Given the description of an element on the screen output the (x, y) to click on. 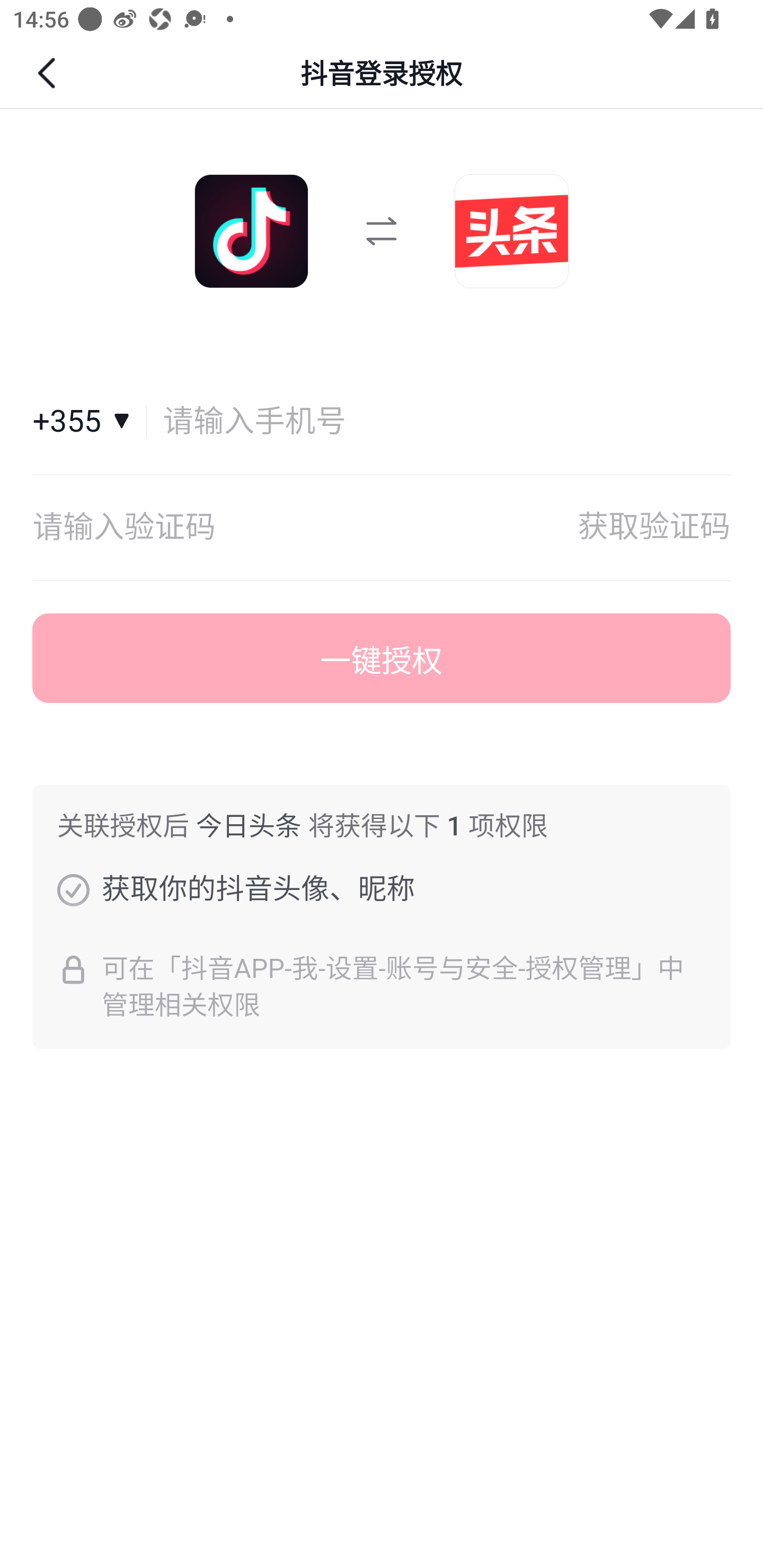
返回 (49, 72)
国家和地区+355 (90, 421)
获取验证码 (653, 527)
一键授权 (381, 658)
获取你的抖音头像、昵称 (72, 889)
